Given the description of an element on the screen output the (x, y) to click on. 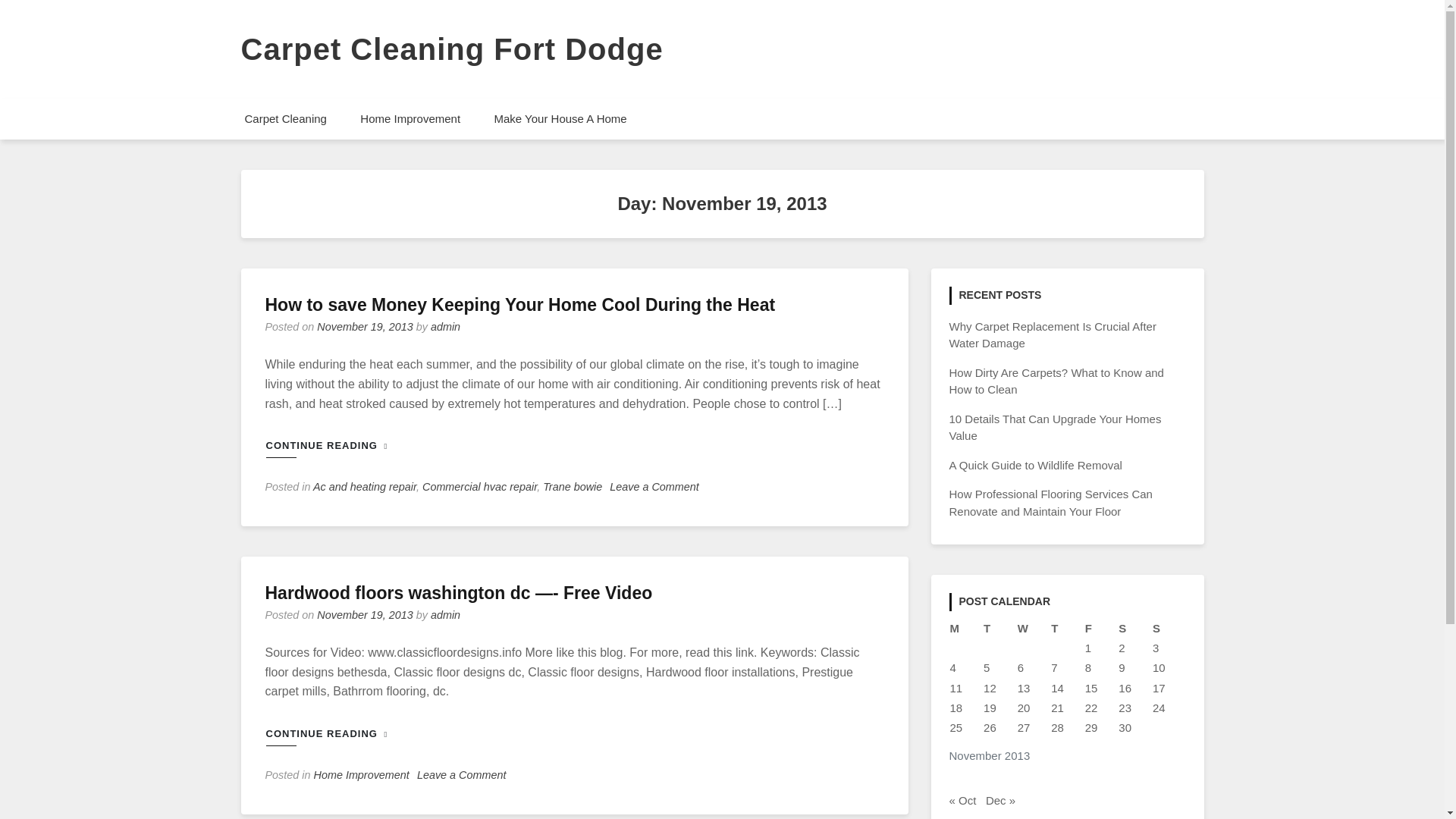
Monday (966, 628)
19 (989, 707)
13 (1023, 687)
Commercial hvac repair (479, 486)
Home Improvement (361, 775)
16 (1124, 687)
Friday (1101, 628)
Ac and heating repair (364, 486)
Carpet Cleaning Fort Dodge (452, 49)
admin (445, 326)
18 (955, 707)
How Dirty Are Carpets? What to Know and How to Clean (1056, 381)
Why Carpet Replacement Is Crucial After Water Damage (1052, 335)
